Given the description of an element on the screen output the (x, y) to click on. 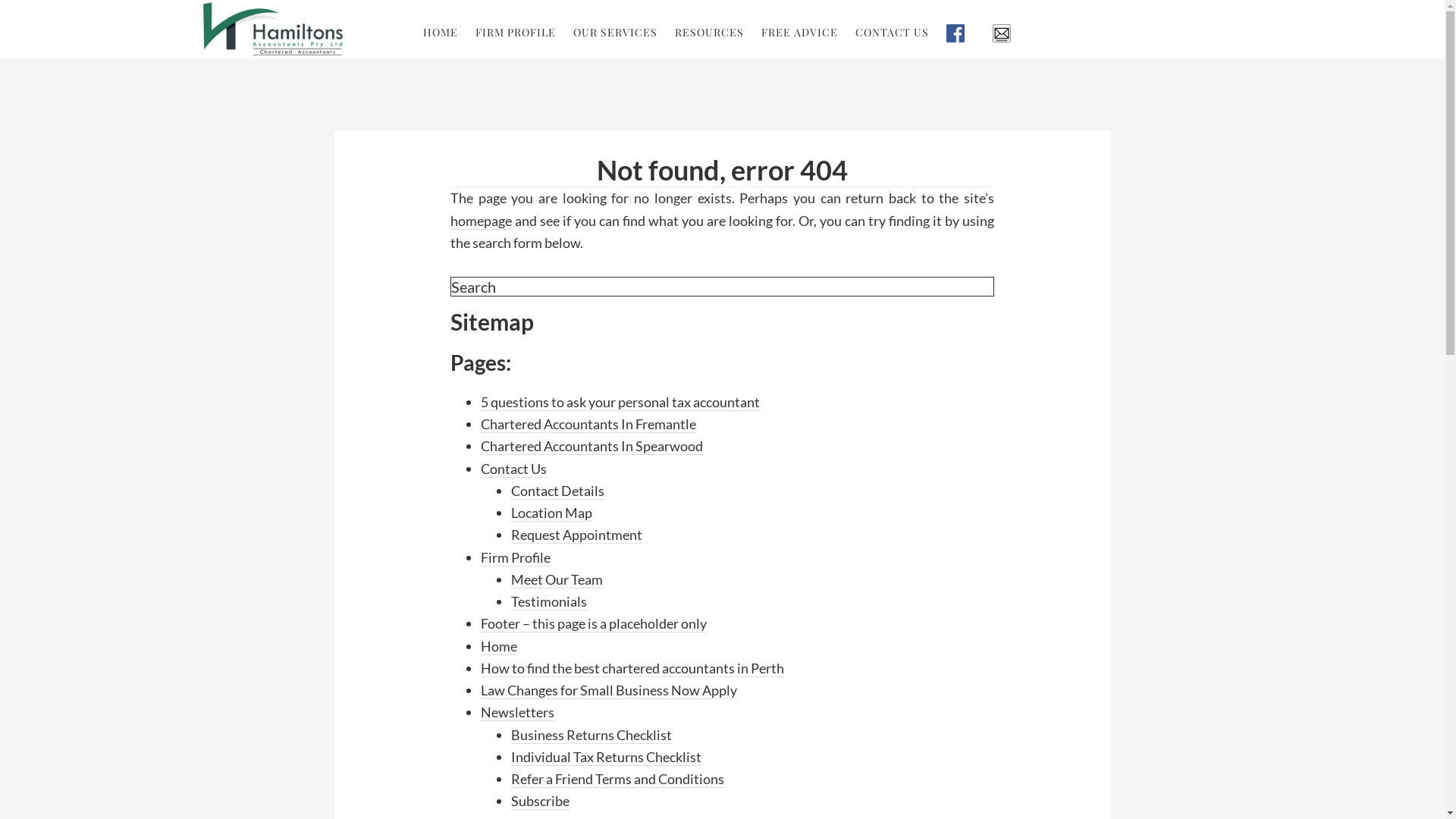
5 questions to ask your personal tax accountant Element type: text (619, 402)
HAMILTONS ACCOUNTANTS Element type: text (272, 28)
Meet Our Team Element type: text (556, 579)
FREE ADVICE Element type: text (799, 32)
Contact Details Element type: text (557, 490)
Refer a Friend Terms and Conditions Element type: text (617, 778)
Contact Us Element type: text (513, 468)
Individual Tax Returns Checklist Element type: text (606, 756)
Testimonials Element type: text (548, 601)
Chartered Accountants In Spearwood Element type: text (591, 446)
Chartered Accountants In Fremantle Element type: text (588, 424)
Home Element type: text (498, 646)
Subscribe Element type: text (540, 800)
Subscribe Element type: hover (1007, 33)
Newsletters Element type: text (517, 712)
FIRM PROFILE Element type: text (515, 32)
Search Element type: text (993, 276)
Business Returns Checklist Element type: text (591, 734)
Request Appointment Element type: text (576, 534)
Law Changes for Small Business Now Apply Element type: text (608, 690)
OUR SERVICES Element type: text (615, 32)
How to find the best chartered accountants in Perth Element type: text (632, 668)
Facebook Element type: hover (960, 33)
Firm Profile Element type: text (515, 557)
CONTACT US Element type: text (891, 32)
HOME Element type: text (440, 32)
  Element type: text (960, 33)
  Element type: text (1007, 33)
Skip to primary navigation Element type: text (0, 0)
homepage Element type: text (480, 220)
Location Map Element type: text (551, 512)
RESOURCES Element type: text (709, 32)
